Given the description of an element on the screen output the (x, y) to click on. 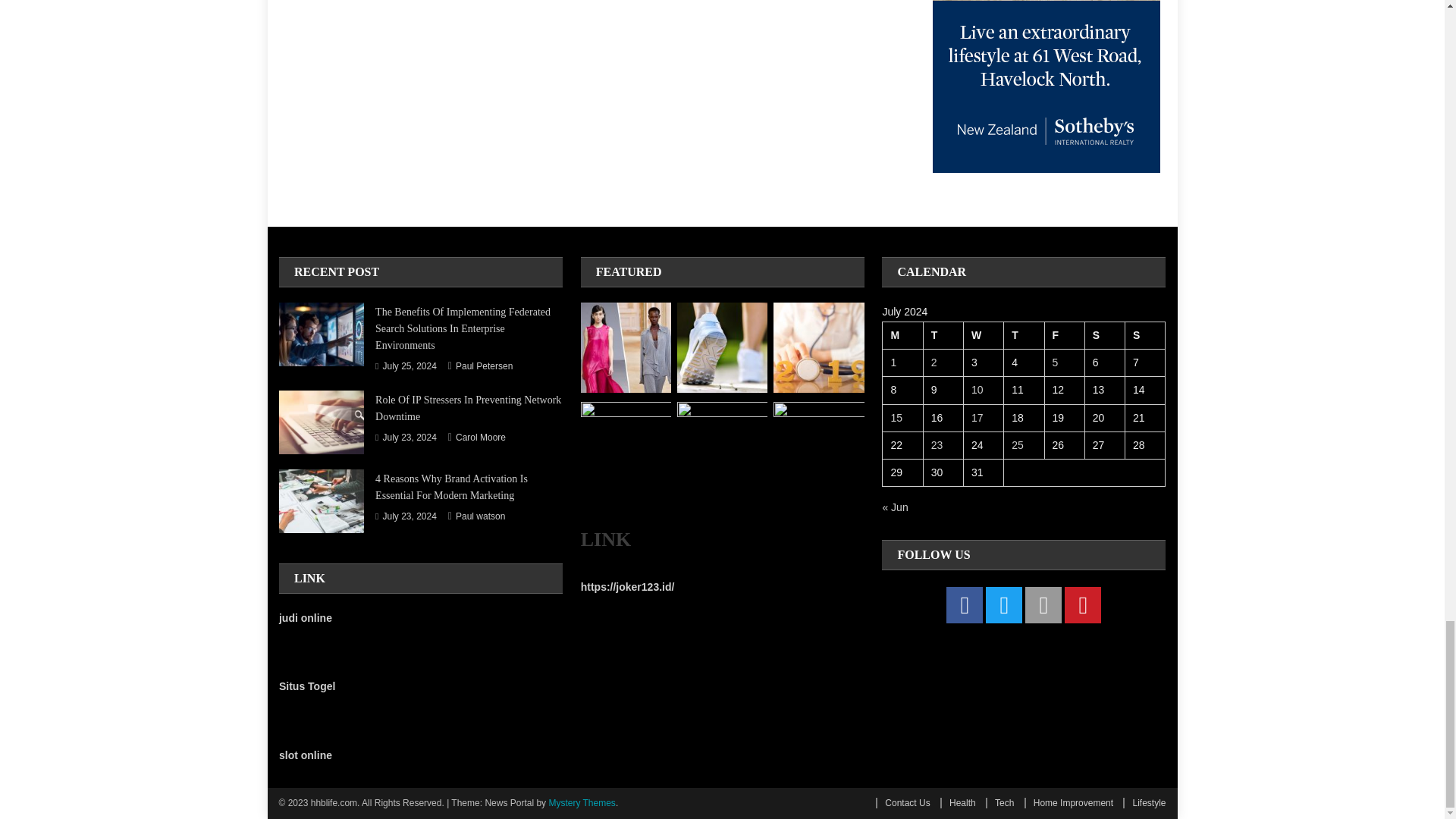
Pinterest (1082, 605)
Saturday (1104, 335)
Wednesday (982, 335)
Monday (902, 335)
Twitter (1003, 605)
Sunday (1145, 335)
LinkedIn (1043, 605)
Facebook (964, 605)
Thursday (1023, 335)
Friday (1063, 335)
Tuesday (942, 335)
